Given the description of an element on the screen output the (x, y) to click on. 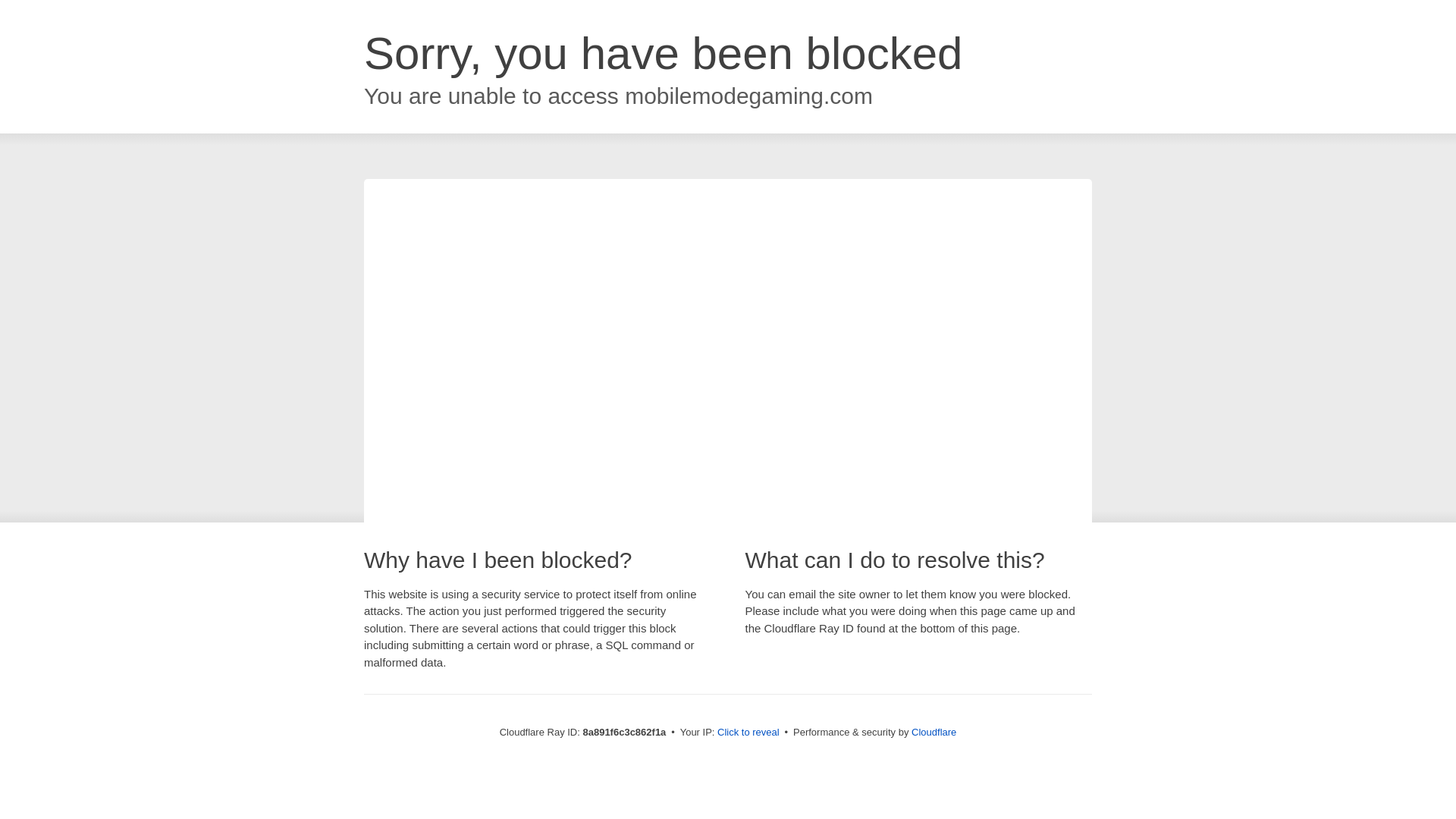
Click to reveal (747, 732)
Cloudflare (933, 731)
